Given the description of an element on the screen output the (x, y) to click on. 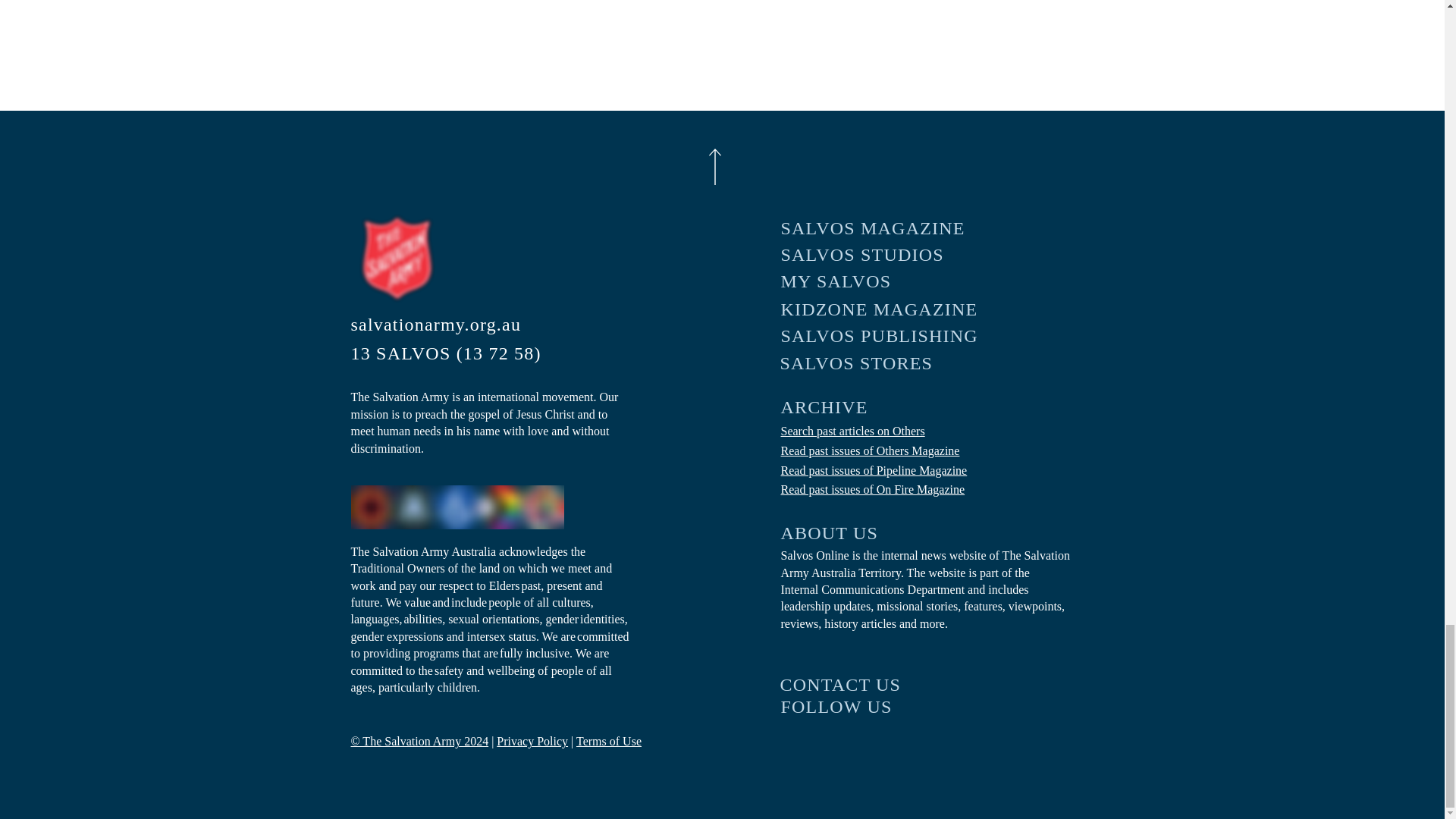
SALVOS MAGAZINE (879, 228)
Terms of Use (609, 740)
KIDZONE MAGAZINE (879, 309)
SALVOS PUBLISHING (879, 335)
Search past articles on Others (852, 431)
SALVOS STUDIOS (879, 254)
SALVOS STORES (878, 363)
salvationarmy.org.au (452, 325)
MY SALVOS (879, 281)
Privacy Policy (531, 740)
